Given the description of an element on the screen output the (x, y) to click on. 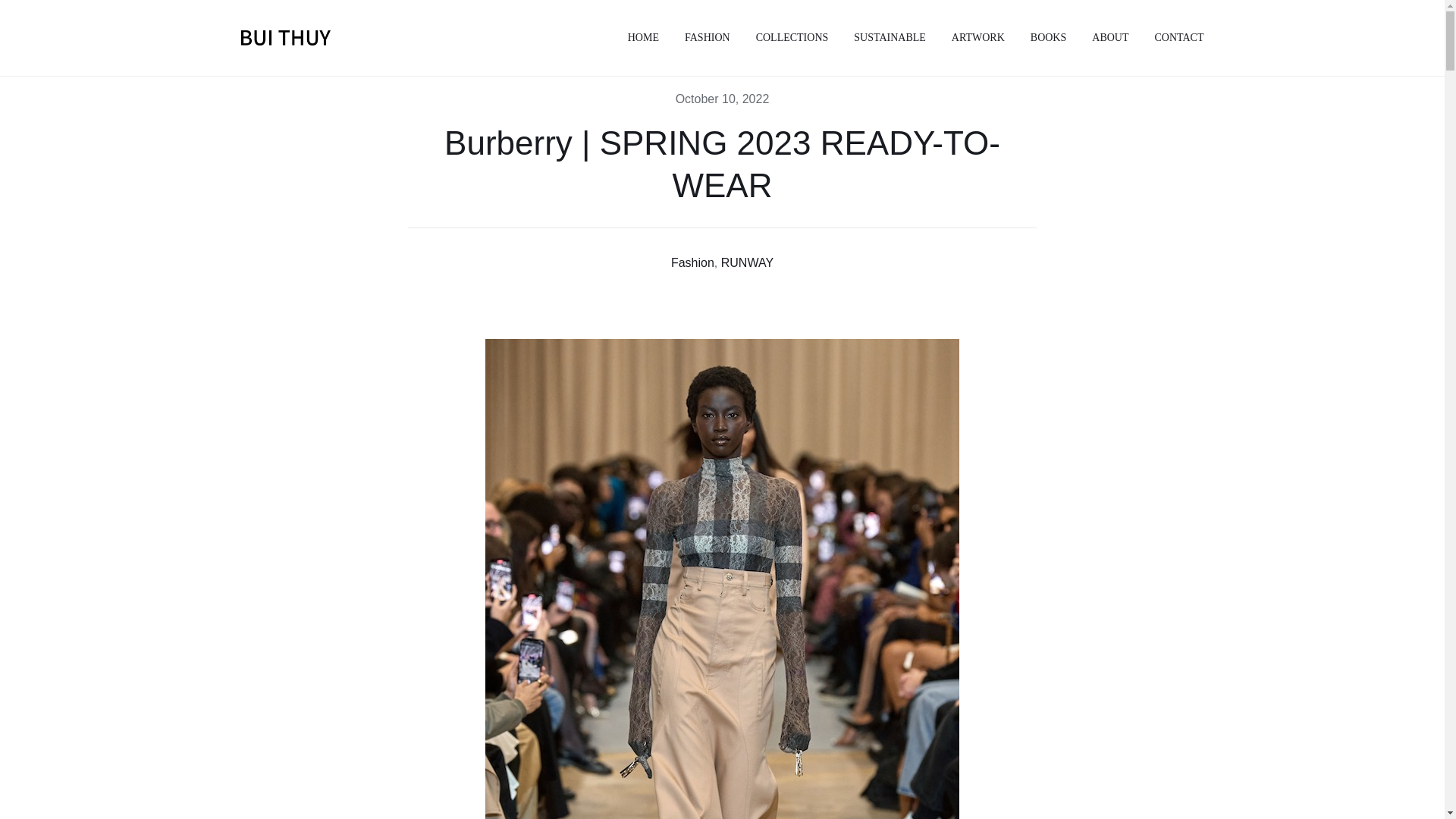
RUNWAY (746, 262)
Fashion (692, 262)
SUSTAINABLE (889, 38)
COLLECTIONS (791, 38)
